Given the description of an element on the screen output the (x, y) to click on. 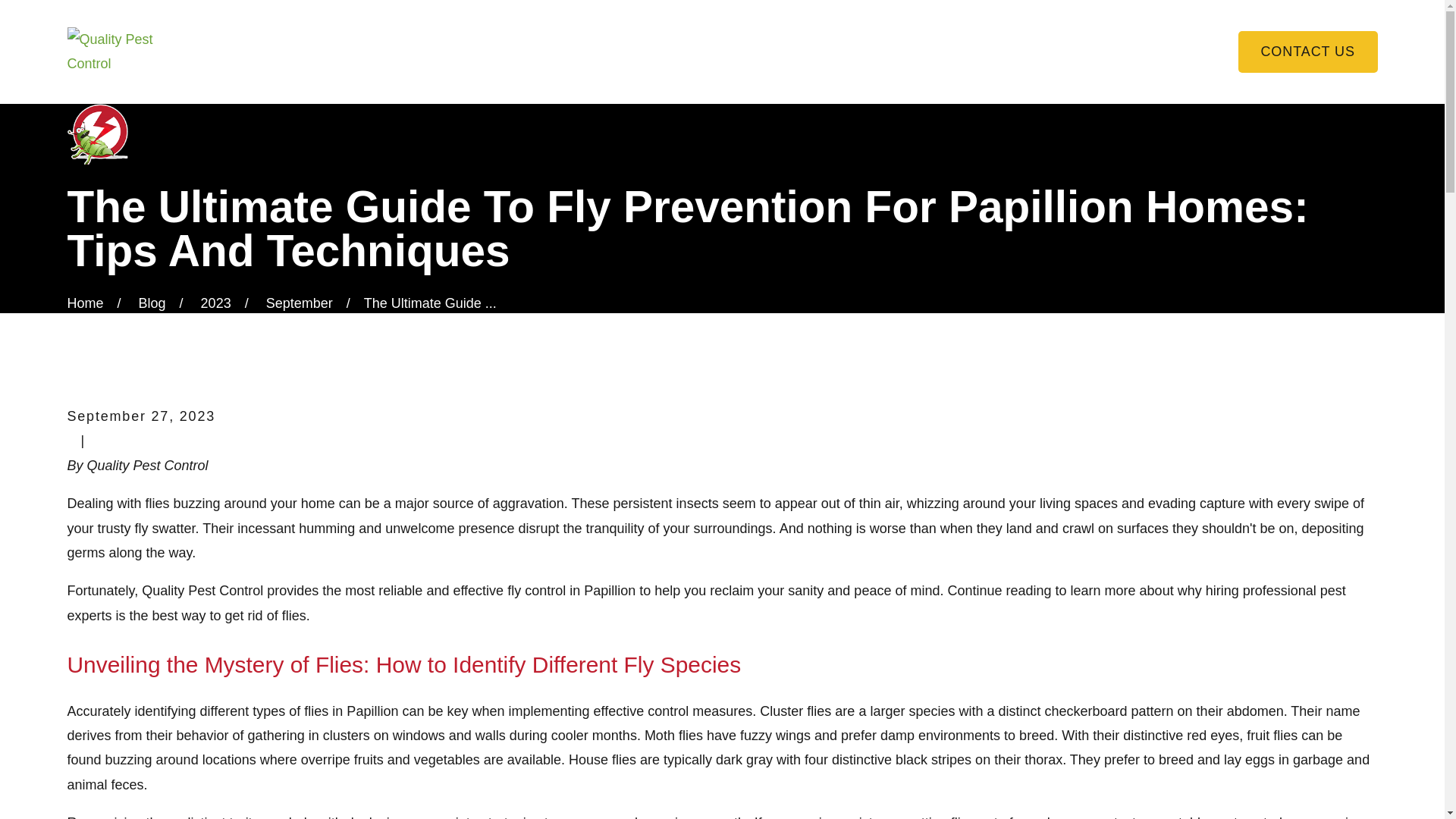
Go Home (84, 303)
Home (123, 51)
Quality Pest Control (123, 51)
